Given the description of an element on the screen output the (x, y) to click on. 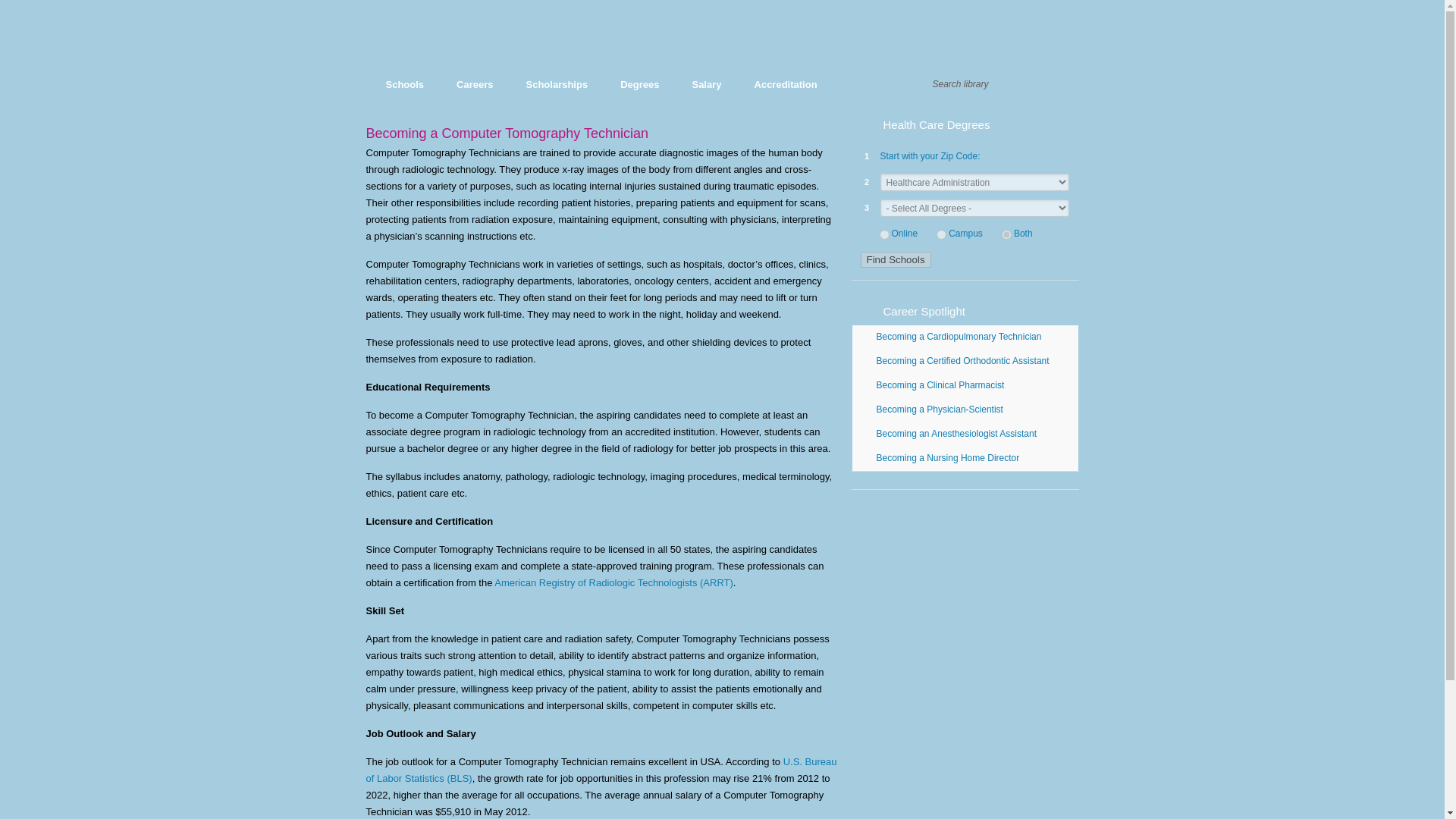
Scholarships (557, 84)
either (1006, 234)
Schools (405, 84)
Becoming a Physician-Scientist (968, 409)
Becoming a Certified Orthodontic Assistant (968, 360)
Becoming a Computer Tomography Technician (506, 133)
Salary (705, 84)
campus (941, 234)
Go (1055, 84)
Find Schools (895, 259)
Search library (983, 84)
Degrees (639, 84)
Healthcare Administration (566, 42)
Becoming a Computer Tomography Technician (506, 133)
Careers (474, 84)
